Given the description of an element on the screen output the (x, y) to click on. 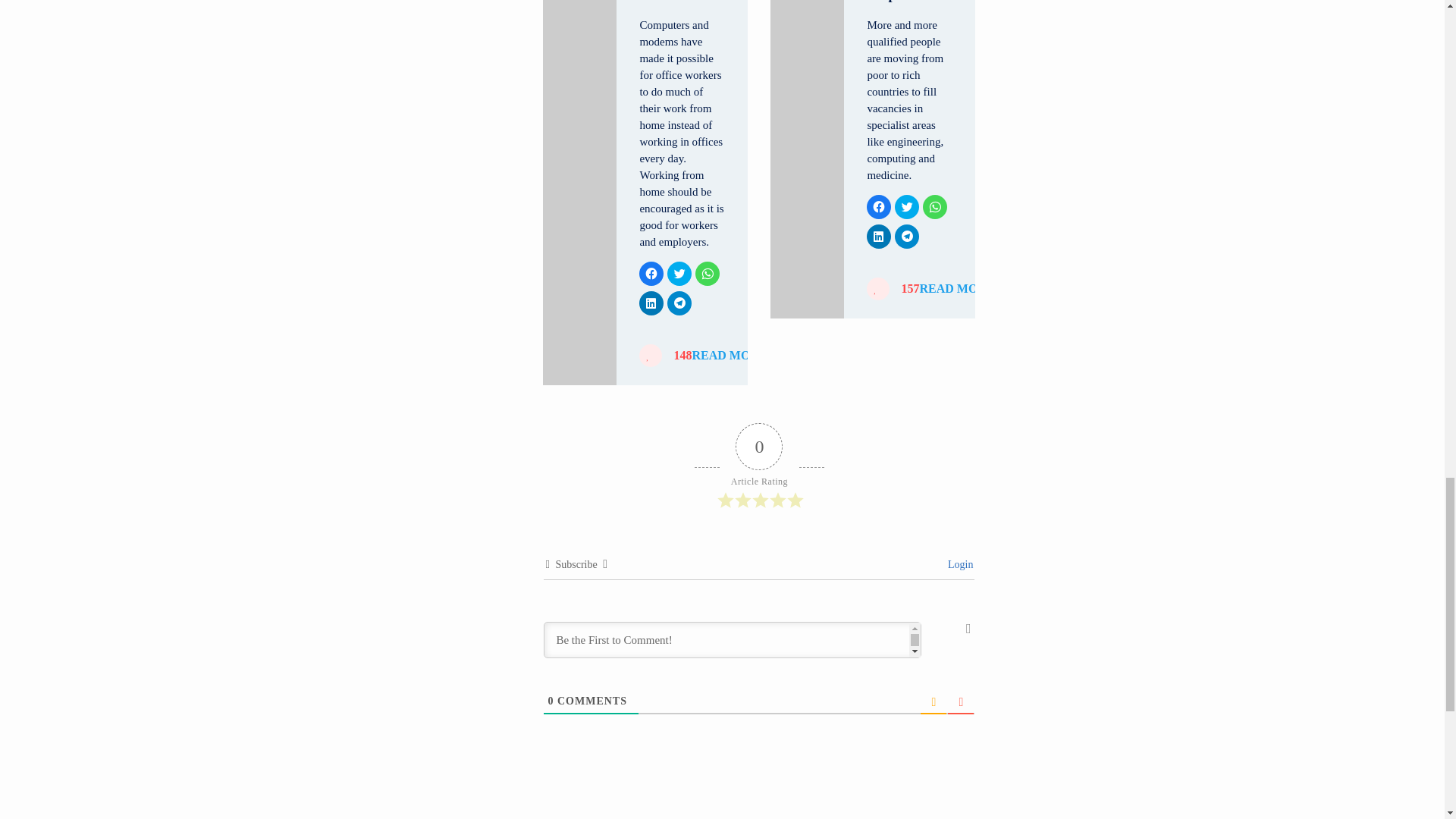
Click to share on LinkedIn (651, 303)
Click to share on WhatsApp (935, 206)
Click to share on Twitter (906, 206)
Click to share on Facebook (651, 273)
Click to share on Telegram (678, 303)
Click to share on WhatsApp (707, 273)
Click to share on Twitter (678, 273)
Click to share on Facebook (878, 206)
